Given the description of an element on the screen output the (x, y) to click on. 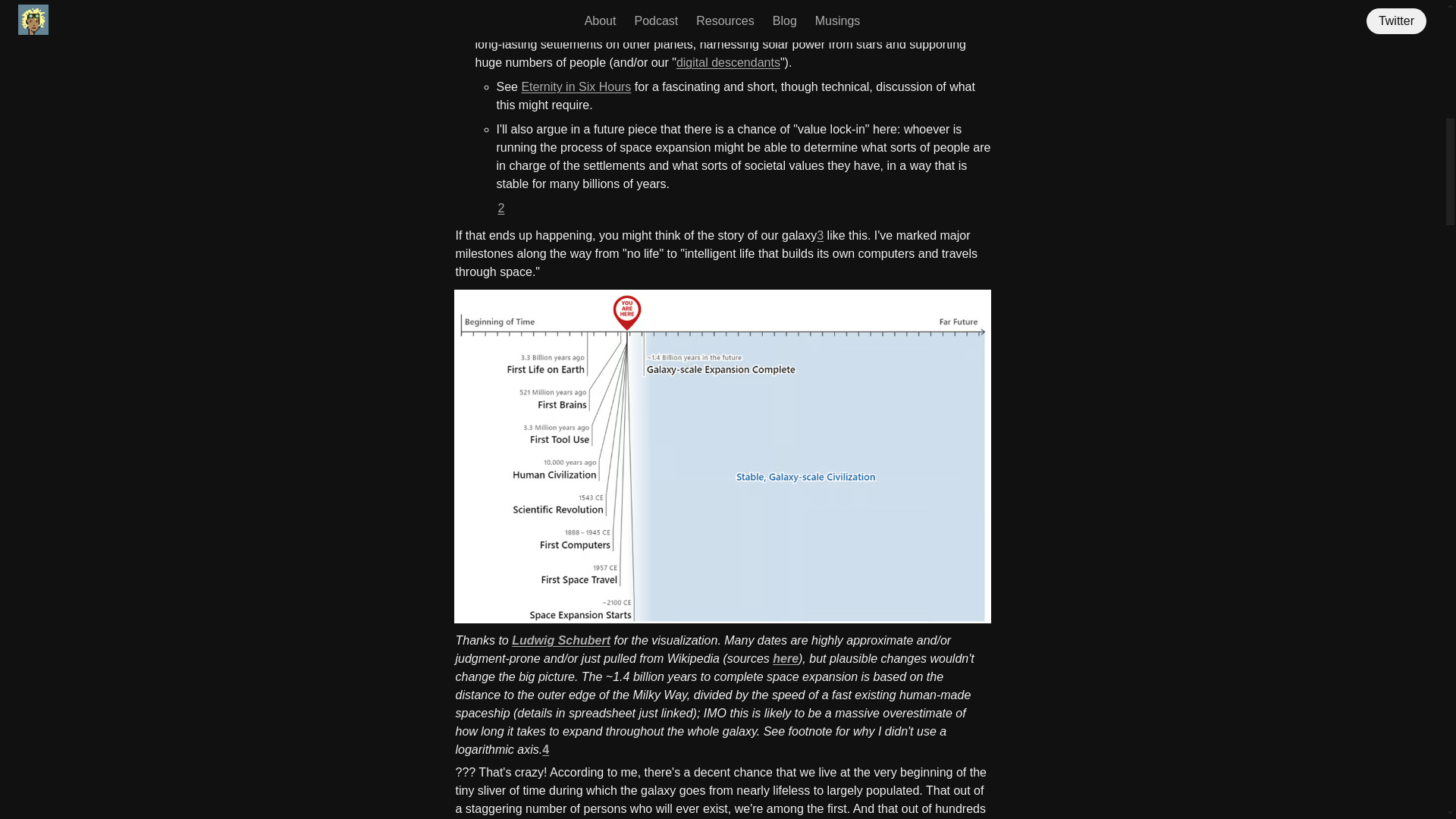
here (785, 658)
digital descendants (728, 62)
Ludwig Schubert (561, 640)
Eternity in Six Hours (575, 86)
